Given the description of an element on the screen output the (x, y) to click on. 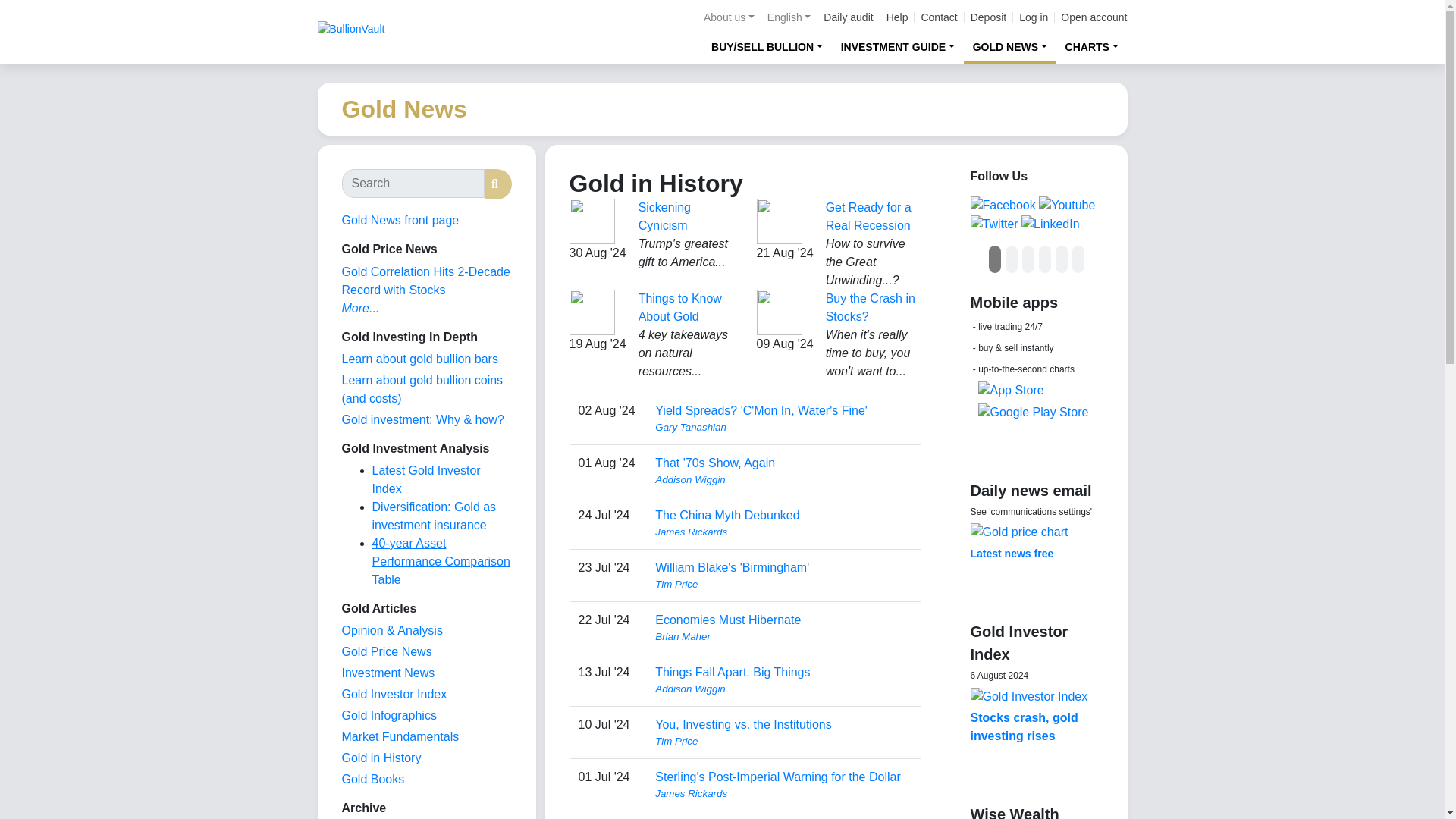
Gold Infographics (387, 715)
Investment News (386, 672)
View user profile. (783, 793)
Contact (938, 17)
Daily audit (848, 17)
View user profile. (783, 636)
View user profile. (783, 688)
Log in (1033, 17)
View user profile. (783, 584)
Books about Gold Reviewed (372, 779)
